Given the description of an element on the screen output the (x, y) to click on. 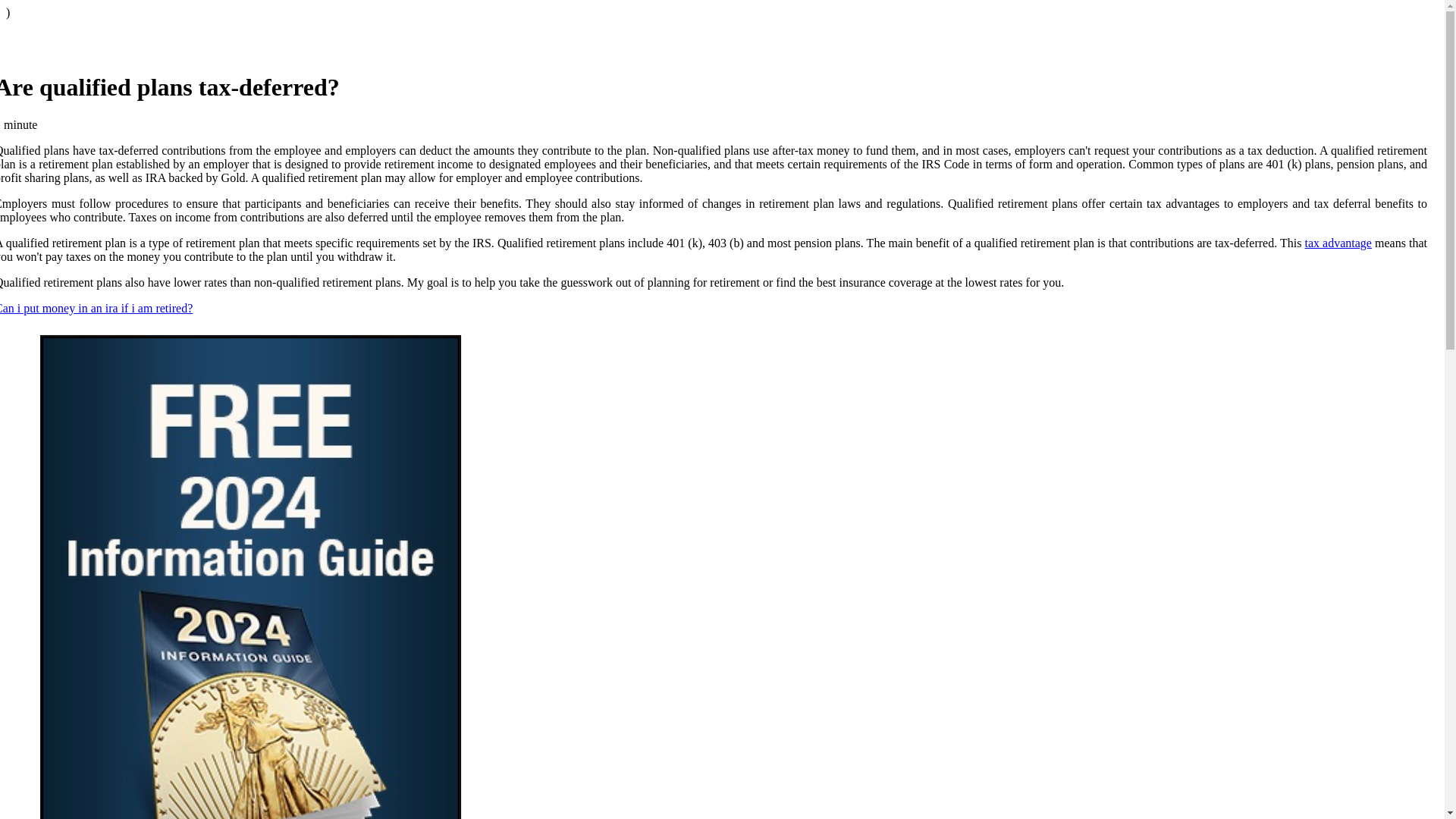
tax advantage (1337, 242)
Can i put money in an ira if i am retired? (96, 308)
